Given the description of an element on the screen output the (x, y) to click on. 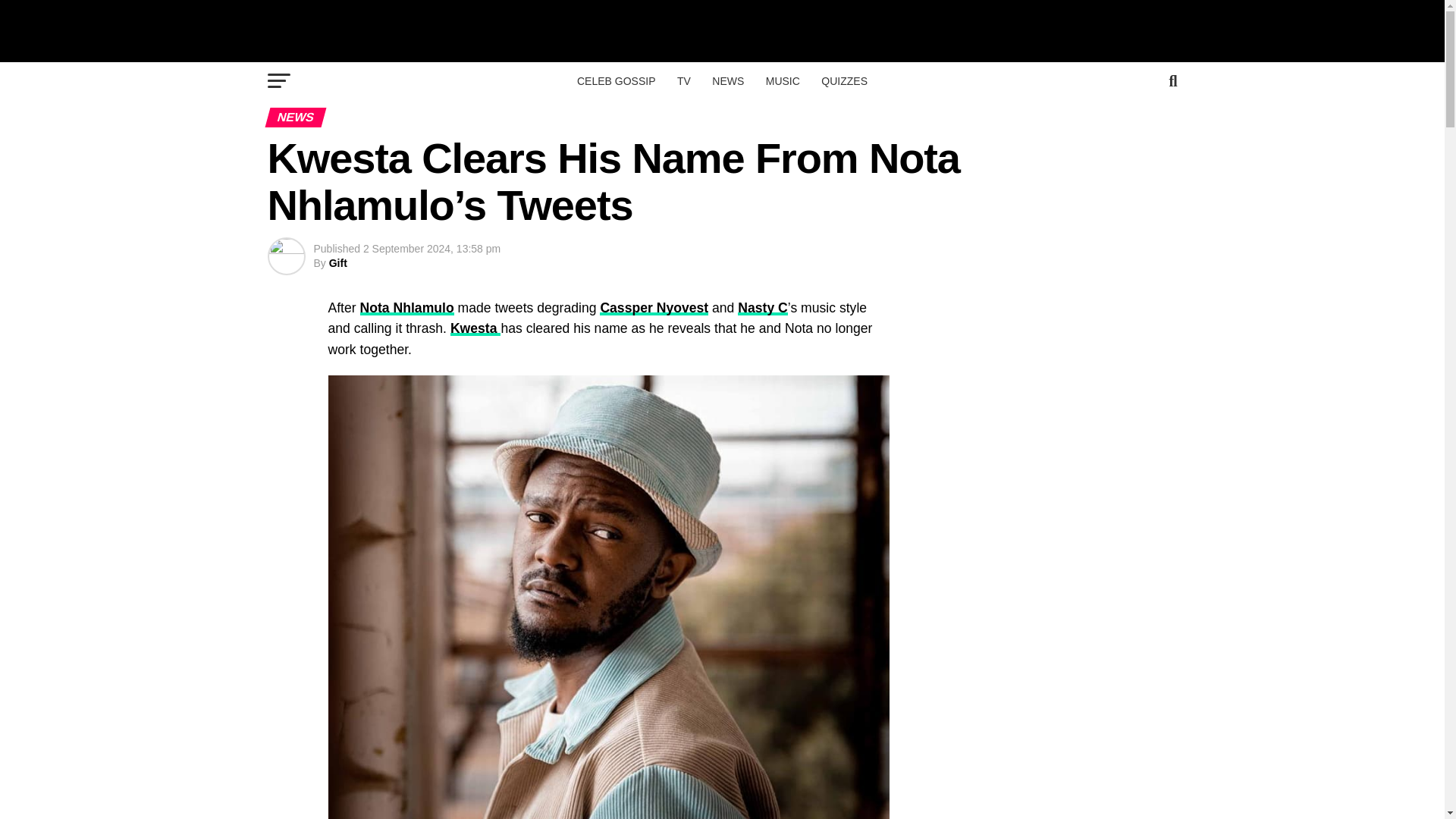
Gift (338, 263)
QUIZZES (844, 80)
NEWS (727, 80)
MUSIC (783, 80)
Posts by Gift (338, 263)
Cassper Nyovest (653, 307)
Kwesta (474, 328)
Nota Nhlamulo (406, 307)
CELEB GOSSIP (615, 80)
Nasty C (762, 307)
